Given the description of an element on the screen output the (x, y) to click on. 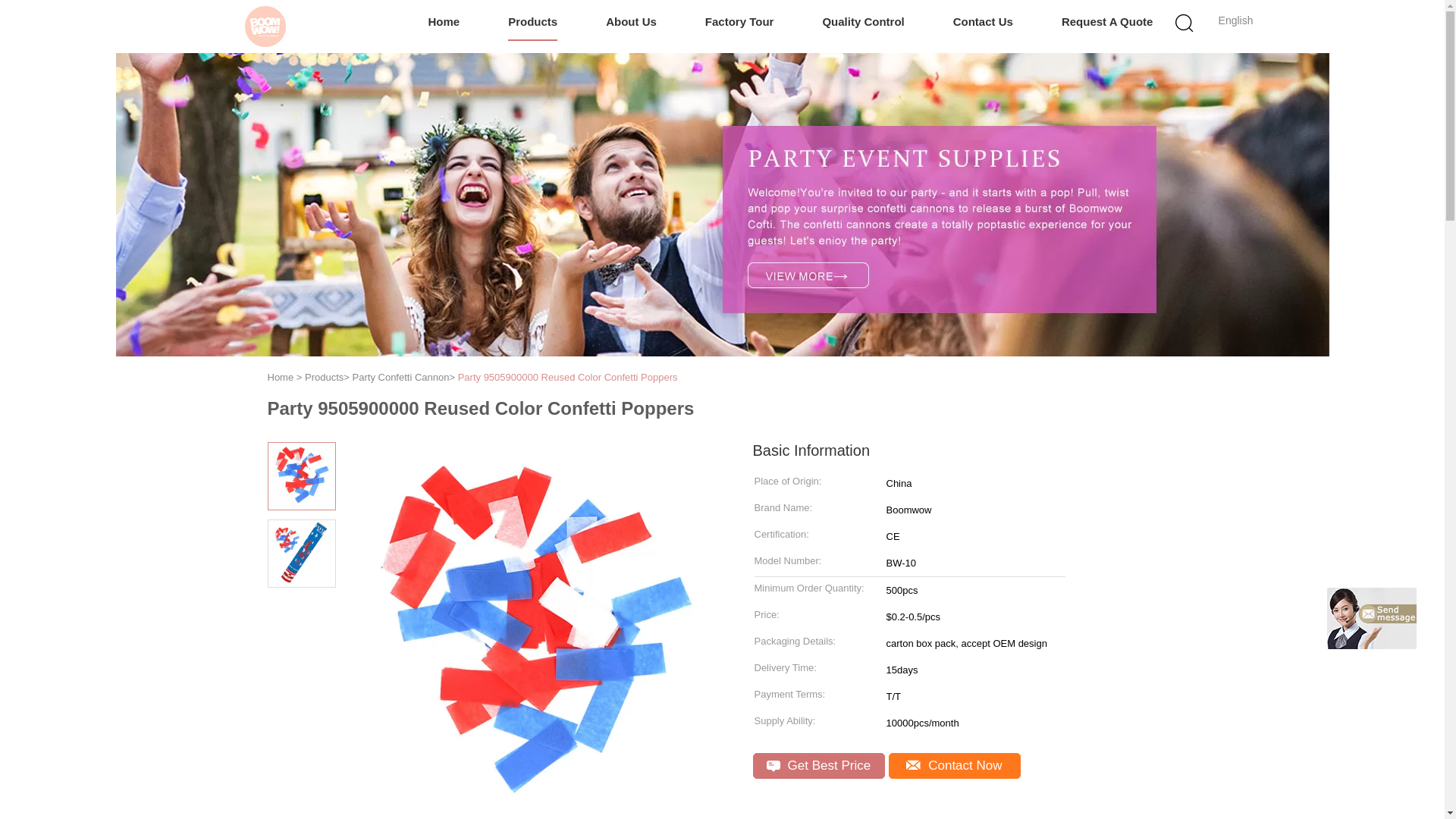
About Us (630, 22)
Contact Us (983, 22)
Factory Tour (739, 22)
Search (1044, 100)
English (1235, 20)
Products (532, 22)
Quality Control (863, 22)
Request A Quote (1107, 22)
China Gender Reveal Confetti Cannon manufacturer (264, 25)
